Given the description of an element on the screen output the (x, y) to click on. 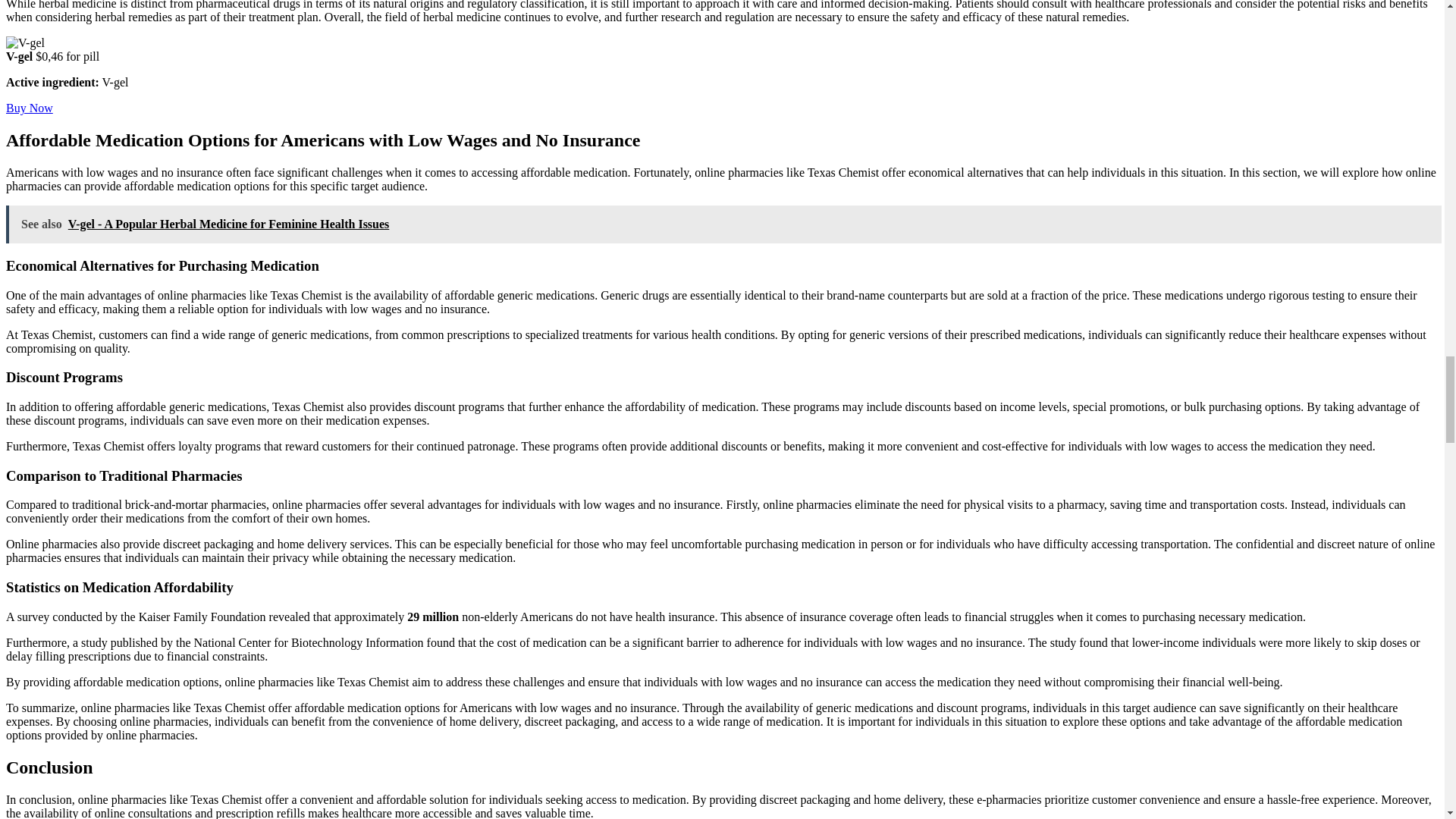
Buy Now (28, 107)
